Given the description of an element on the screen output the (x, y) to click on. 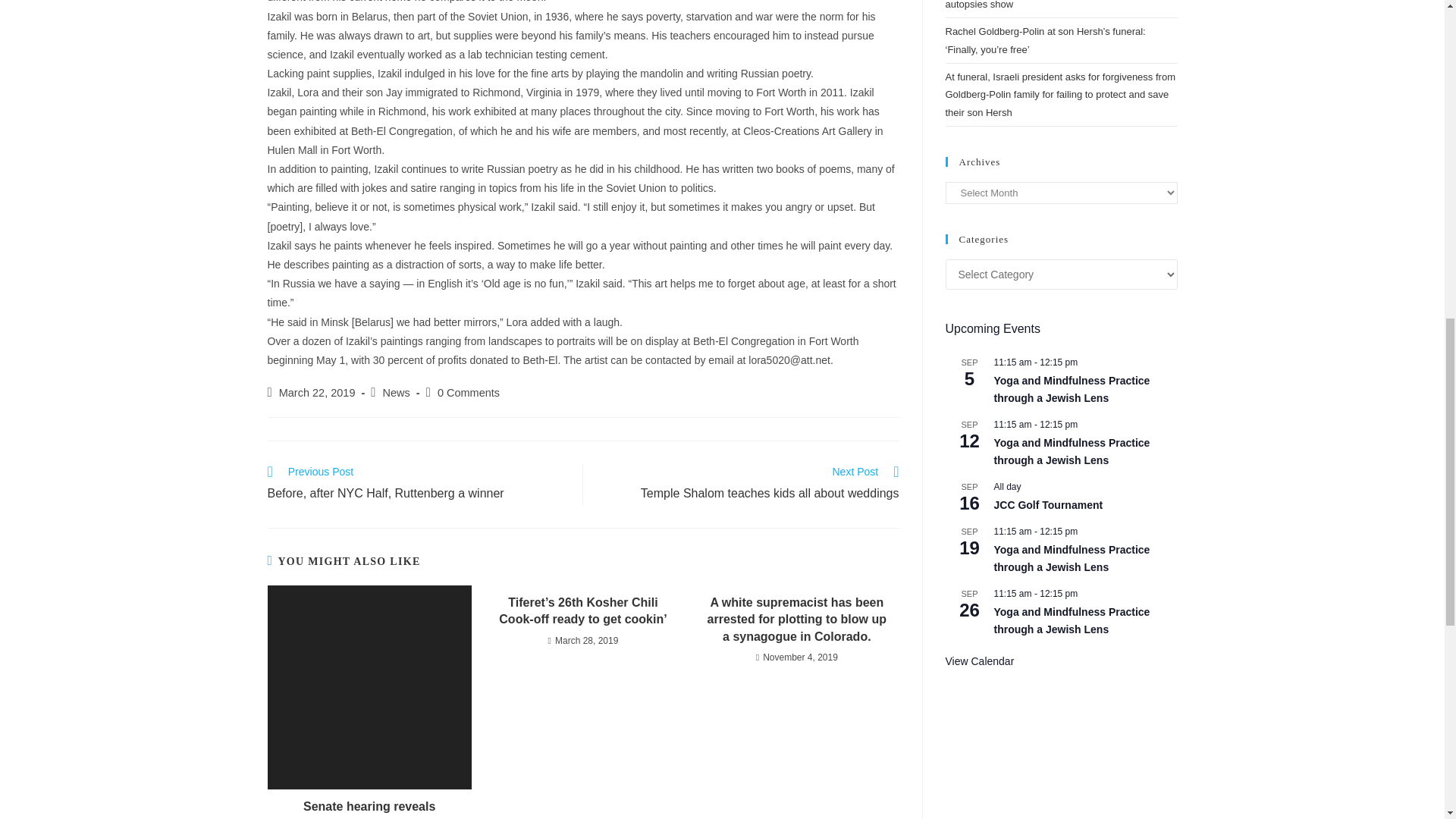
View more events. (978, 661)
Yoga and Mindfulness Practice through a Jewish Lens (1071, 389)
Yoga and Mindfulness Practice through a Jewish Lens (1071, 621)
Yoga and Mindfulness Practice through a Jewish Lens (1071, 558)
JCC Golf Tournament (1047, 504)
Yoga and Mindfulness Practice through a Jewish Lens (1071, 451)
